Given the description of an element on the screen output the (x, y) to click on. 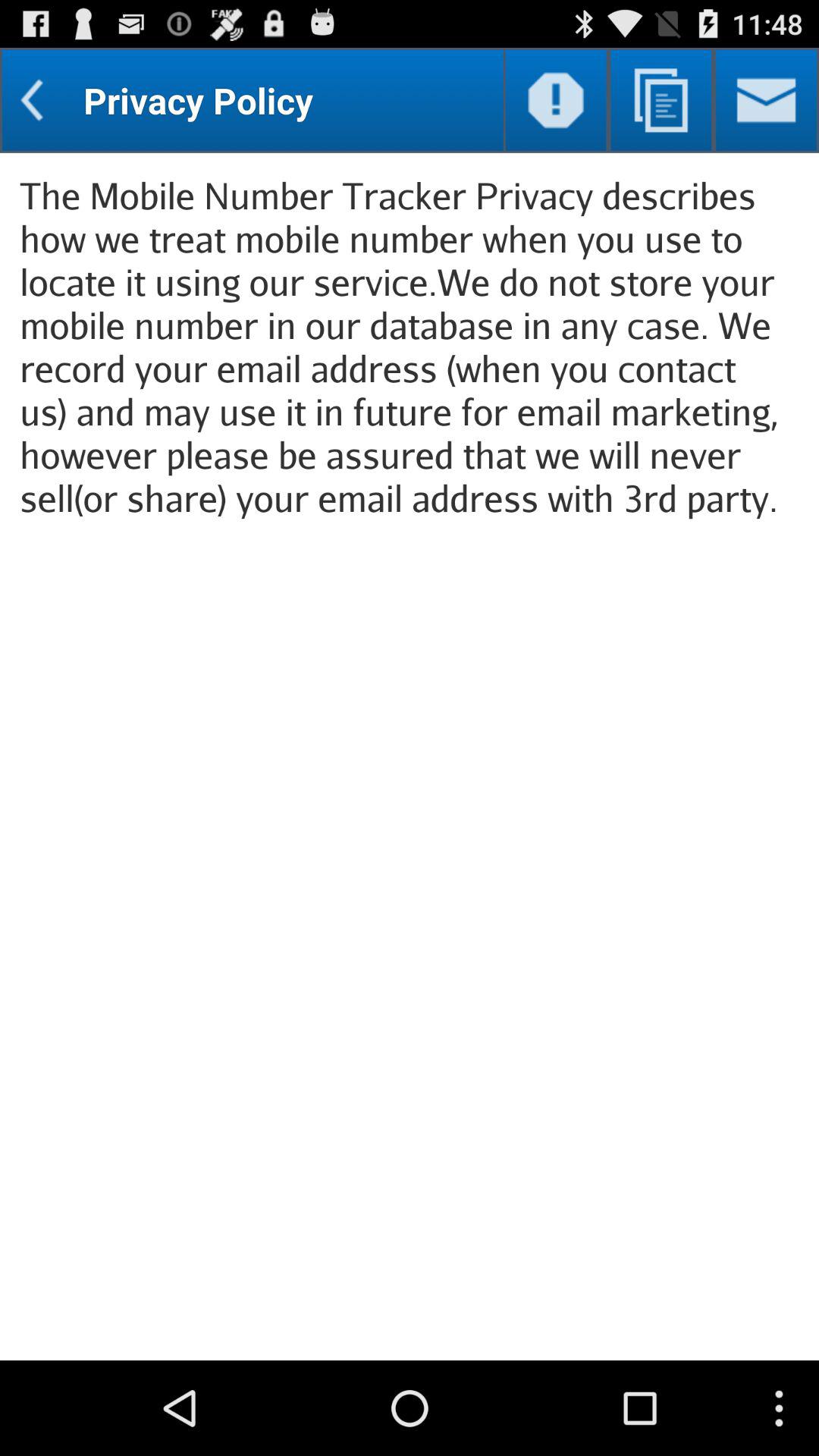
describes (660, 99)
